Given the description of an element on the screen output the (x, y) to click on. 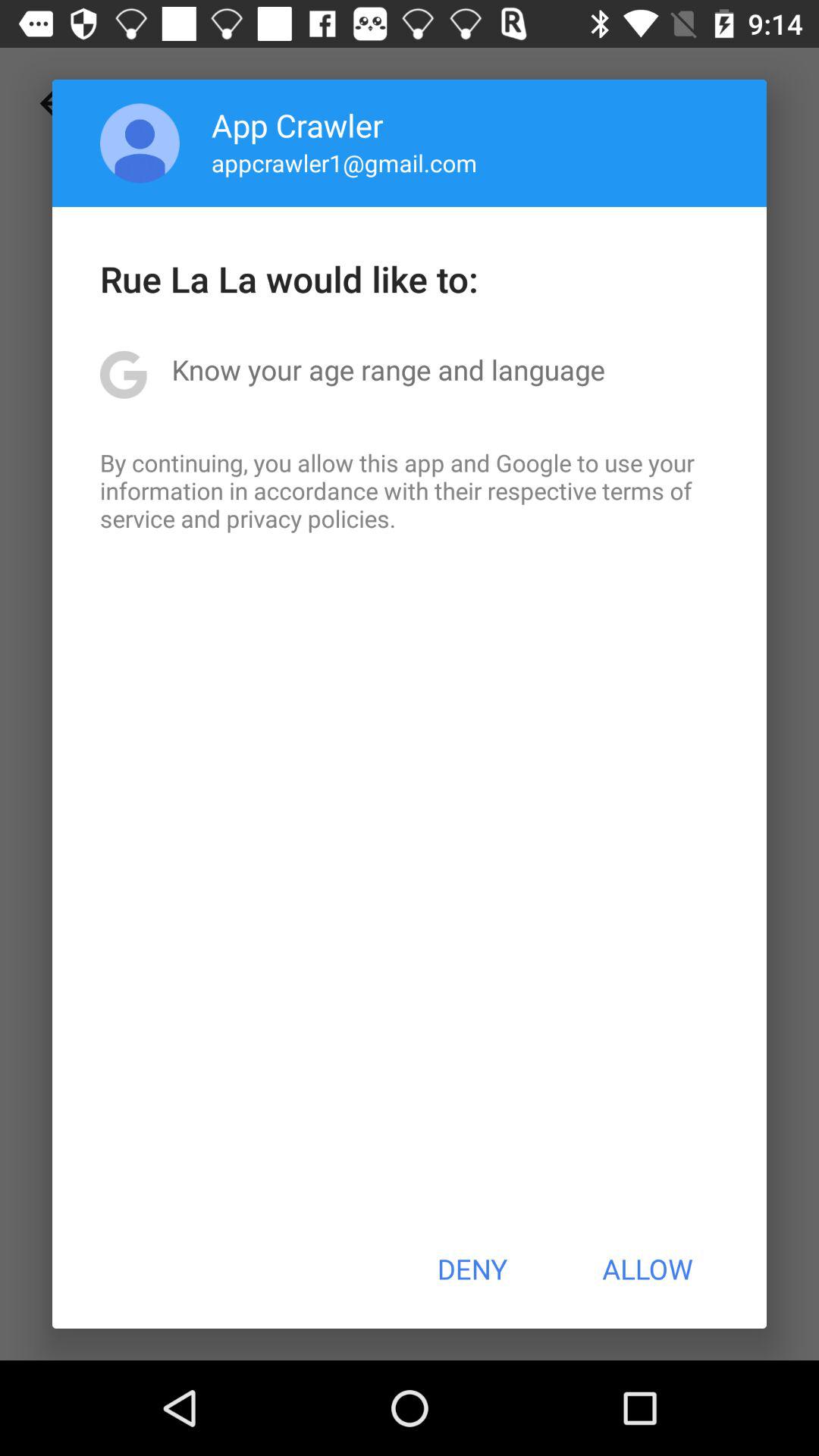
select the know your age app (388, 369)
